Given the description of an element on the screen output the (x, y) to click on. 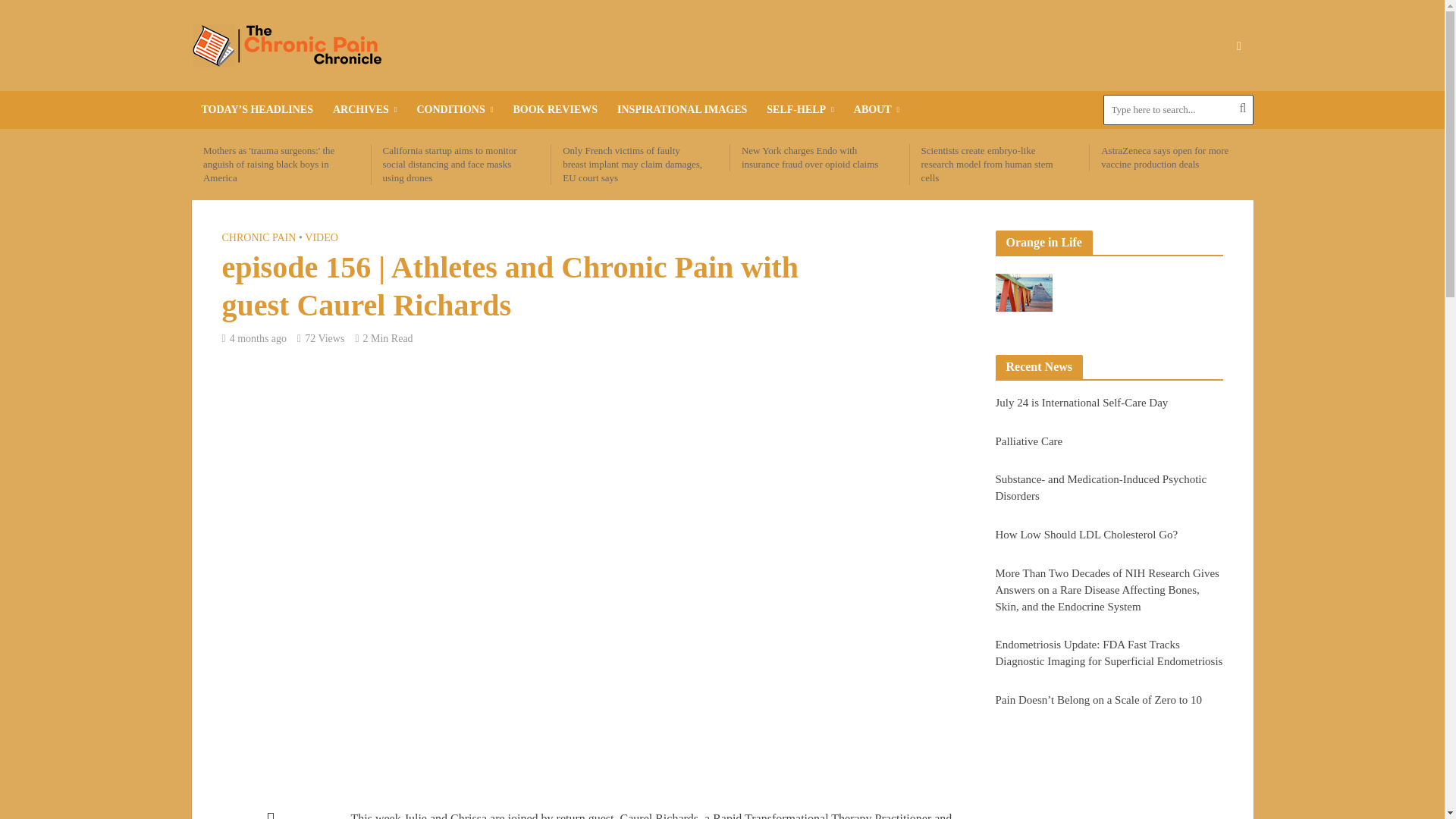
SELF-HELP (800, 109)
BOOK REVIEWS (554, 109)
ABOUT (876, 109)
ARCHIVES (365, 109)
INSPIRATIONAL IMAGES (682, 109)
CONDITIONS (454, 109)
